Given the description of an element on the screen output the (x, y) to click on. 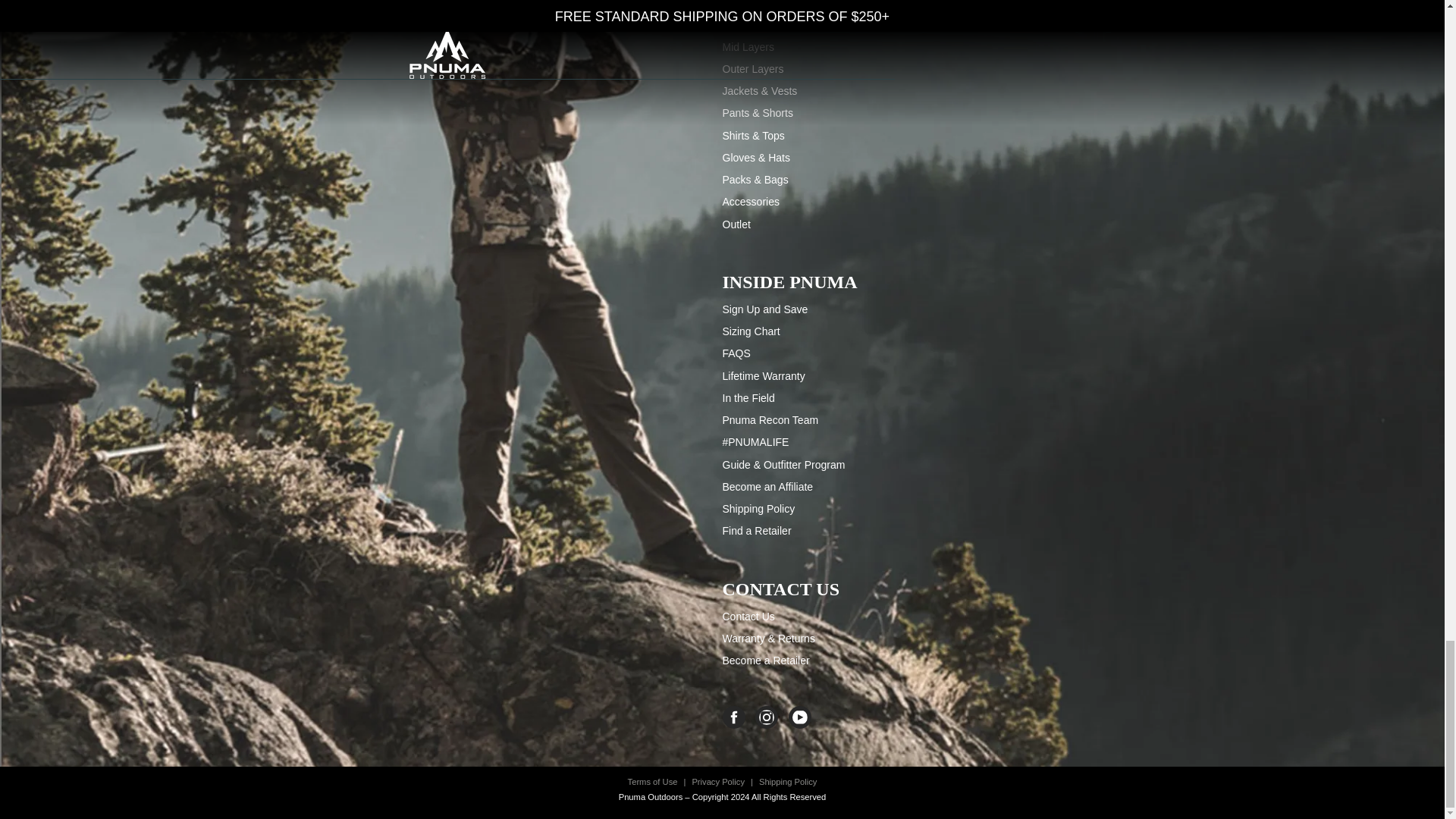
Pnuma Outdoors on YouTube (803, 716)
Pnuma Outdoors on Facebook (737, 716)
Pnuma Outdoors on Instagram (770, 716)
